Given the description of an element on the screen output the (x, y) to click on. 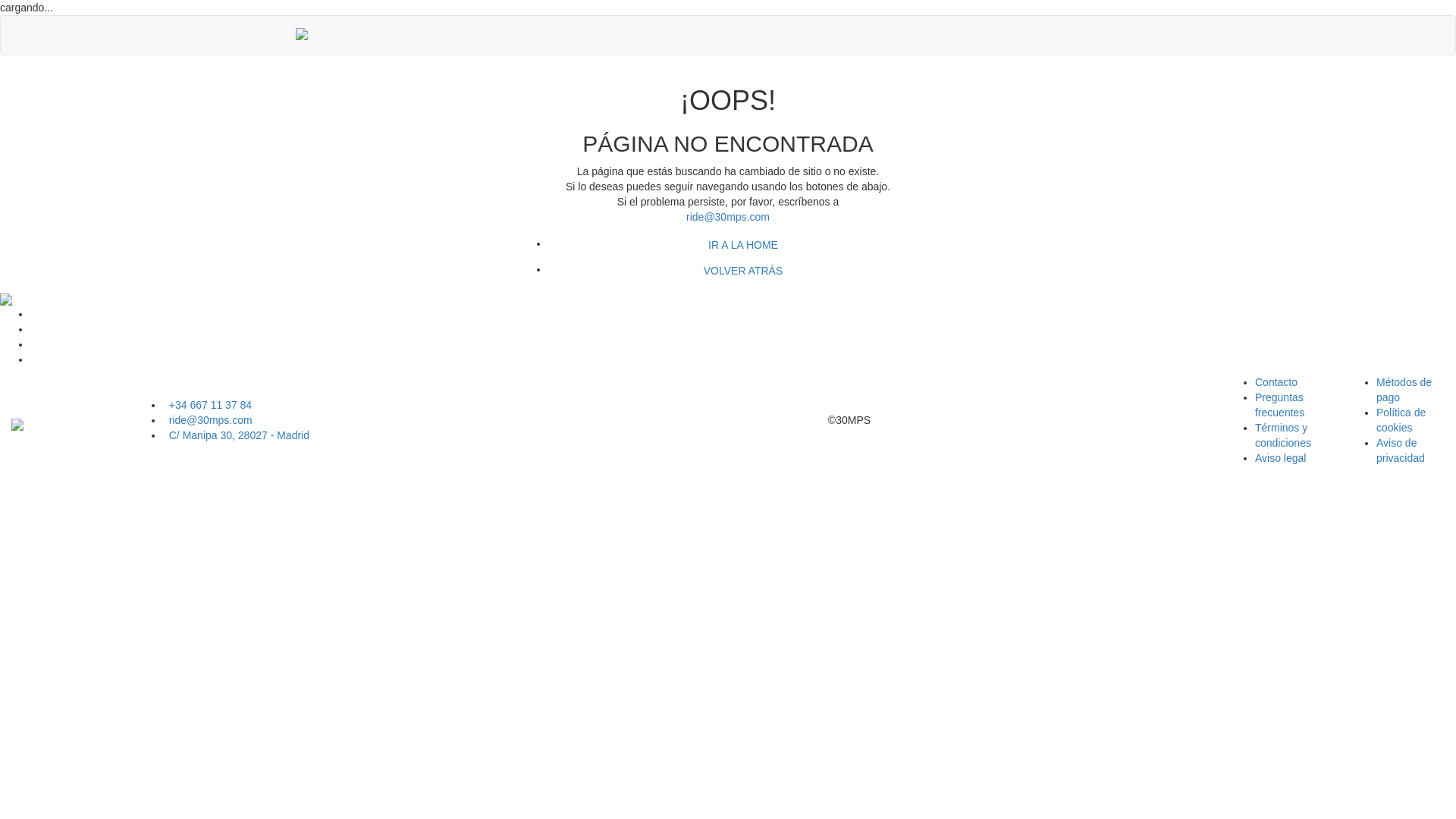
Aviso de privacidad Element type: text (1400, 450)
  C/ Manipa 30, 28027 - Madrid Element type: text (318, 435)
Contacto Element type: text (1276, 382)
30mps Adventures Element type: hover (310, 35)
ride@30mps.com Element type: text (727, 216)
  ride@30mps.com Element type: text (318, 420)
  +34 667 11 37 84 Element type: text (318, 405)
Preguntas frecuentes Element type: text (1279, 404)
IR A LA HOME Element type: text (742, 244)
Aviso legal Element type: text (1280, 457)
